Given the description of an element on the screen output the (x, y) to click on. 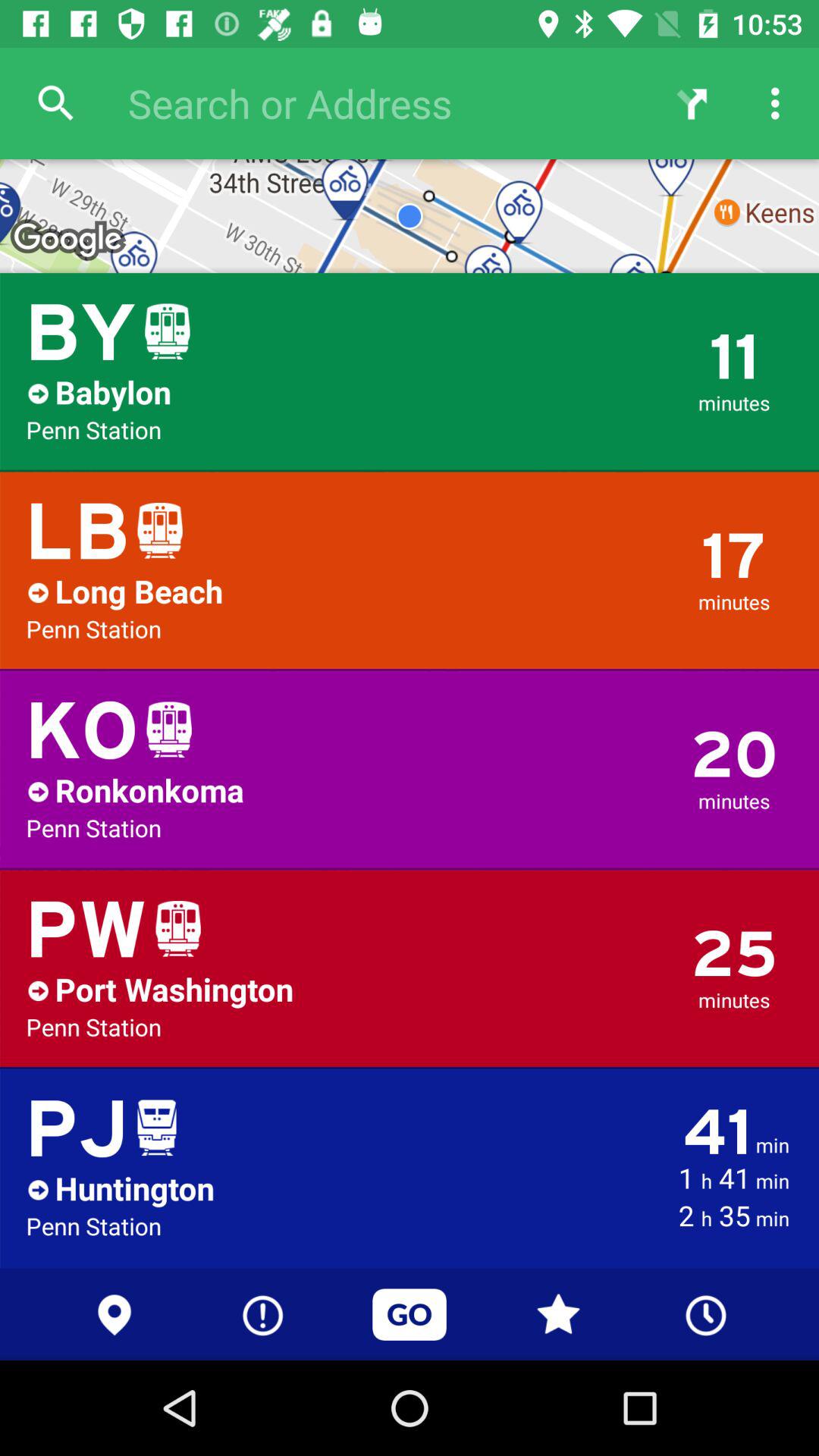
click the search bar at top of the page right to search icon (382, 102)
